Given the description of an element on the screen output the (x, y) to click on. 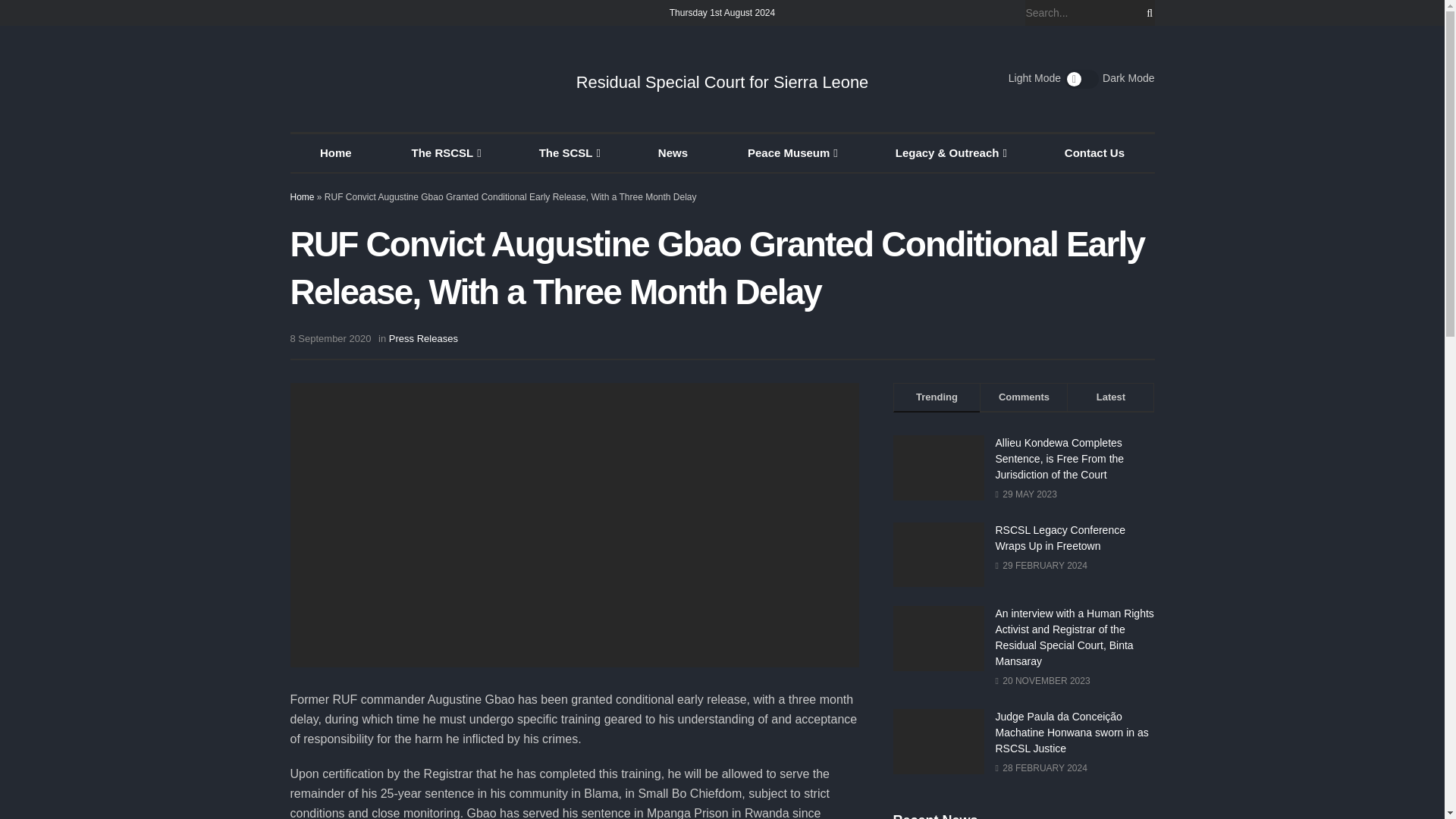
The RSCSL (444, 152)
The SCSL (567, 152)
Home (335, 152)
